Given the description of an element on the screen output the (x, y) to click on. 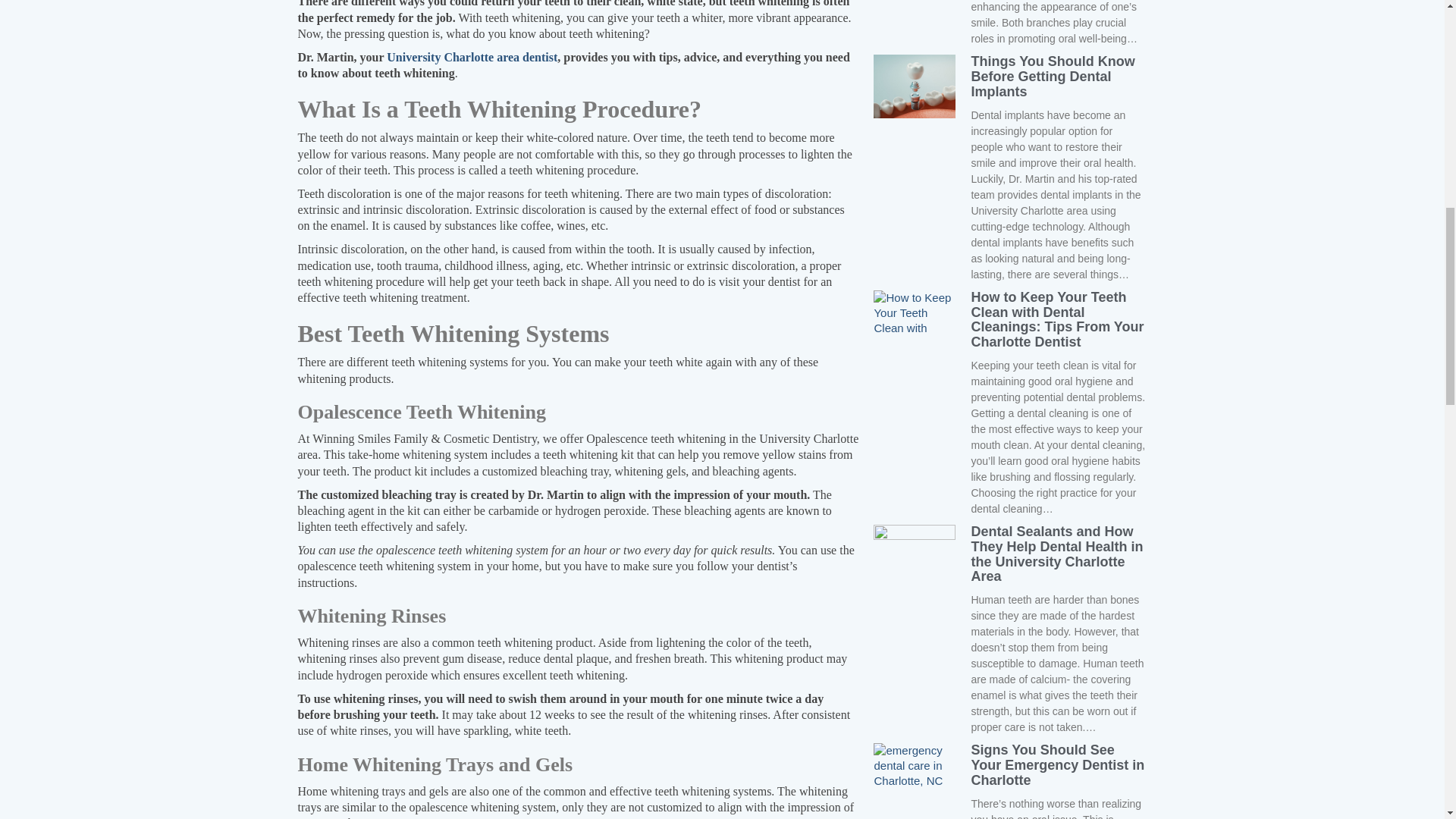
University Charlotte area dentist (472, 57)
